Given the description of an element on the screen output the (x, y) to click on. 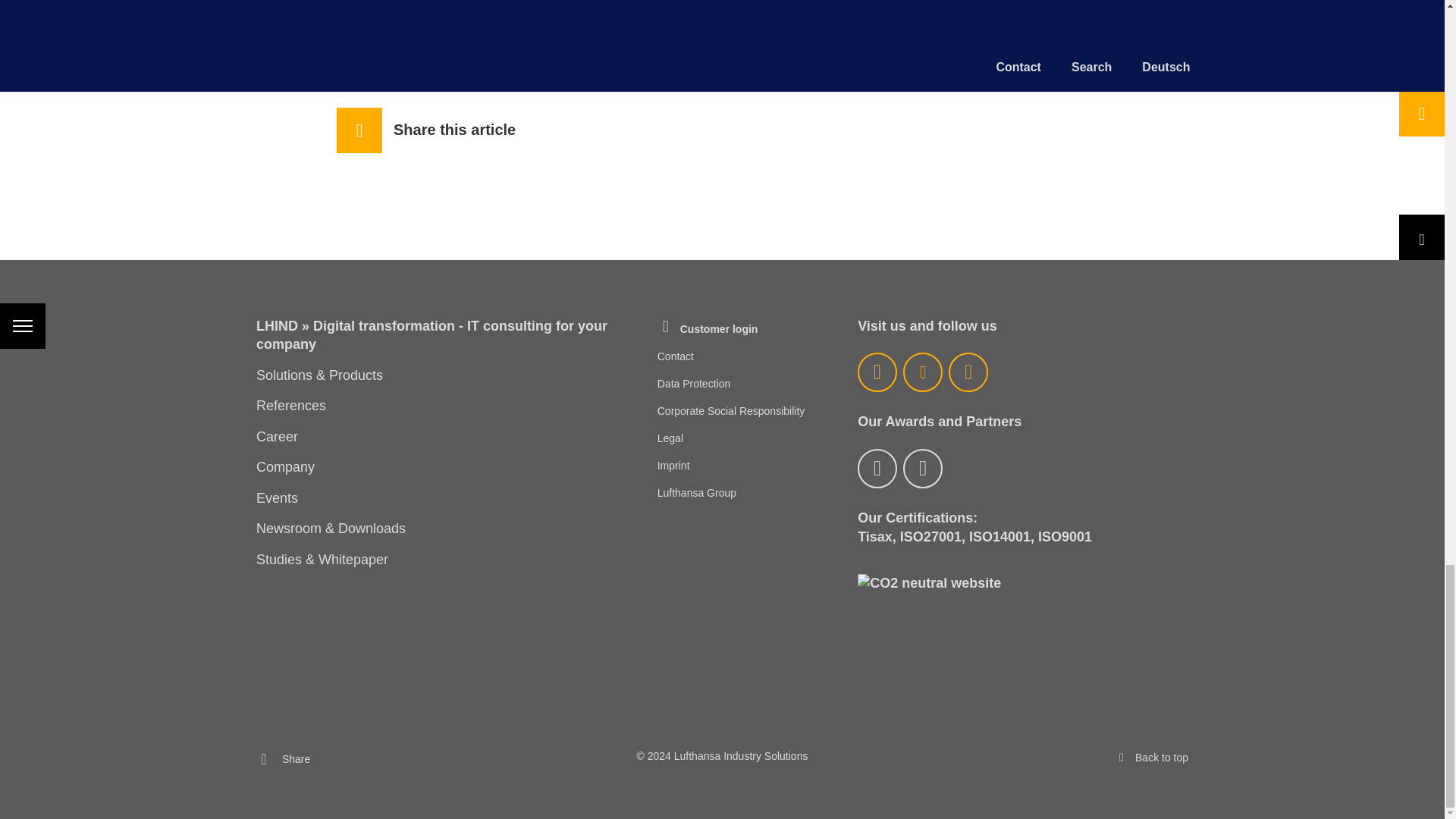
Contact (676, 356)
Customer login (708, 329)
Lufthansa Group (697, 492)
References (291, 405)
Legal (670, 437)
Career (277, 436)
Imprint (674, 465)
Strategic Partners (922, 468)
Events (277, 497)
Awards (876, 468)
